Given the description of an element on the screen output the (x, y) to click on. 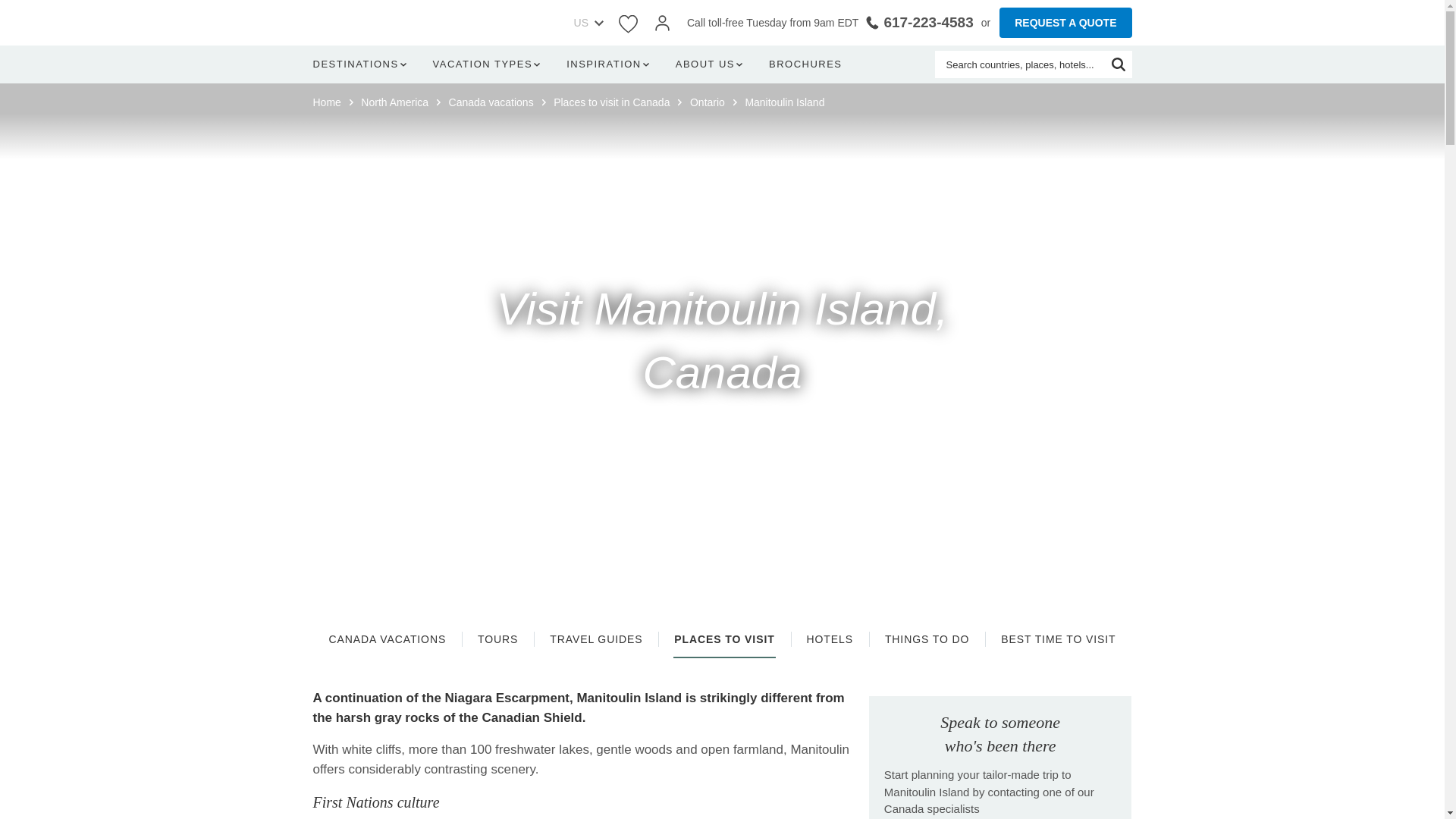
DESTINATIONS (363, 64)
REQUEST A QUOTE (1064, 22)
US (577, 22)
